Given the description of an element on the screen output the (x, y) to click on. 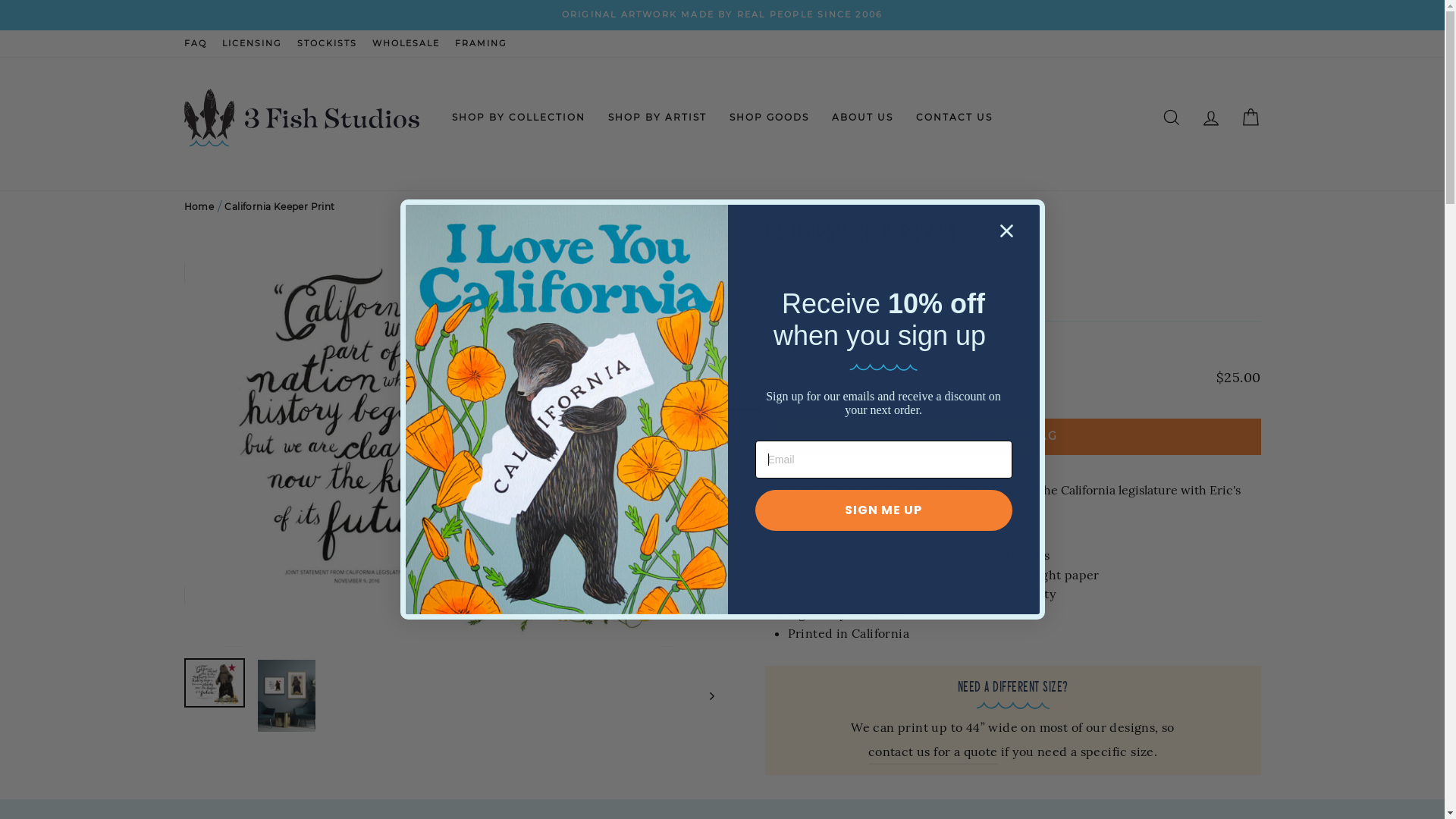
FRAMING Element type: text (480, 43)
SHOP BY COLLECTION Element type: text (518, 117)
contact us for a quote Element type: text (932, 751)
Next Element type: text (703, 695)
SIGN ME UP Element type: text (883, 509)
Skip to content Element type: text (0, 0)
SHOP BY ARTIST Element type: text (657, 117)
Home Element type: text (198, 206)
CONTACT US Element type: text (954, 117)
California Rising Element type: text (810, 514)
Submit Element type: text (29, 16)
LICENSING Element type: text (250, 43)
SHOP GOODS Element type: text (769, 117)
WHOLESALE Element type: text (405, 43)
SEARCH Element type: text (1170, 117)
CART Element type: text (1249, 117)
LOG IN Element type: text (1210, 117)
ADD TO BAG Element type: text (1012, 436)
ABOUT US Element type: text (862, 117)
STOCKISTS Element type: text (326, 43)
+ Element type: text (833, 378)
3 fish_poppies Element type: hover (564, 409)
FAQ Element type: text (194, 43)
ORIGINAL ARTWORK MADE BY REAL PEOPLE SINCE 2006 Element type: text (722, 14)
